Given the description of an element on the screen output the (x, y) to click on. 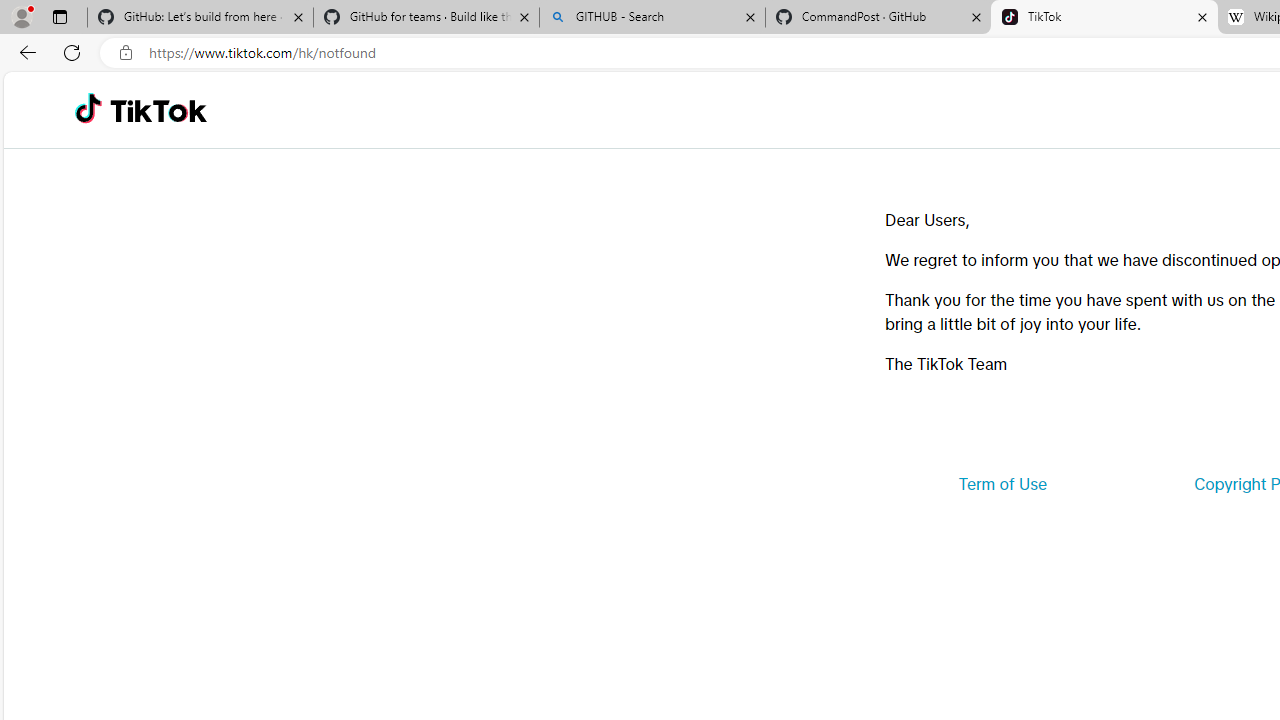
GITHUB - Search (652, 17)
Term of Use (1002, 484)
